Given the description of an element on the screen output the (x, y) to click on. 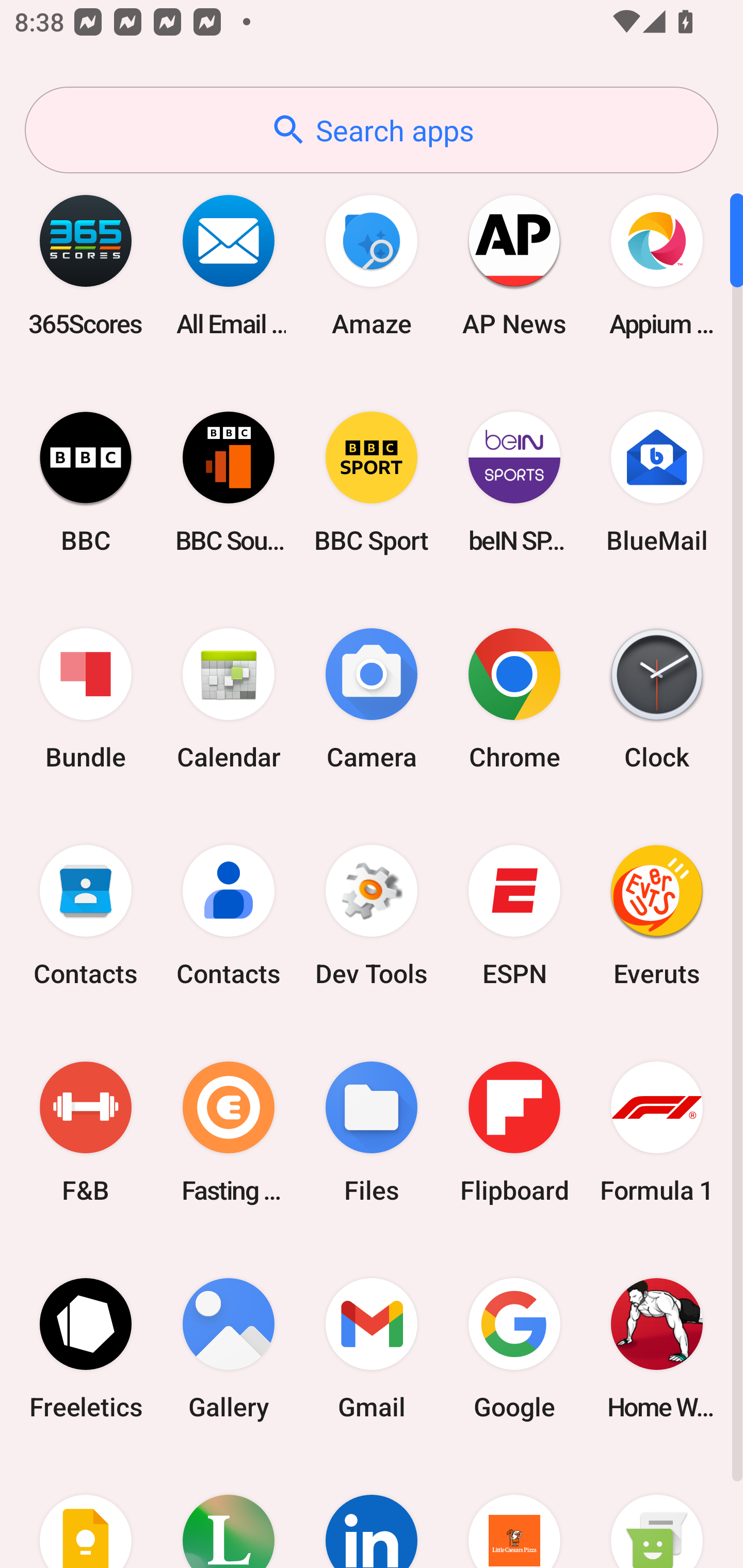
  Search apps (371, 130)
365Scores (85, 264)
All Email Connect (228, 264)
Amaze (371, 264)
AP News (514, 264)
Appium Settings (656, 264)
BBC (85, 482)
BBC Sounds (228, 482)
BBC Sport (371, 482)
beIN SPORTS (514, 482)
BlueMail (656, 482)
Bundle (85, 699)
Calendar (228, 699)
Camera (371, 699)
Chrome (514, 699)
Clock (656, 699)
Contacts (85, 915)
Contacts (228, 915)
Dev Tools (371, 915)
ESPN (514, 915)
Everuts (656, 915)
F&B (85, 1131)
Fasting Coach (228, 1131)
Files (371, 1131)
Flipboard (514, 1131)
Formula 1 (656, 1131)
Freeletics (85, 1348)
Gallery (228, 1348)
Gmail (371, 1348)
Google (514, 1348)
Home Workout (656, 1348)
Keep Notes (85, 1512)
Lifesum (228, 1512)
LinkedIn (371, 1512)
Little Caesars Pizza (514, 1512)
Messaging (656, 1512)
